Given the description of an element on the screen output the (x, y) to click on. 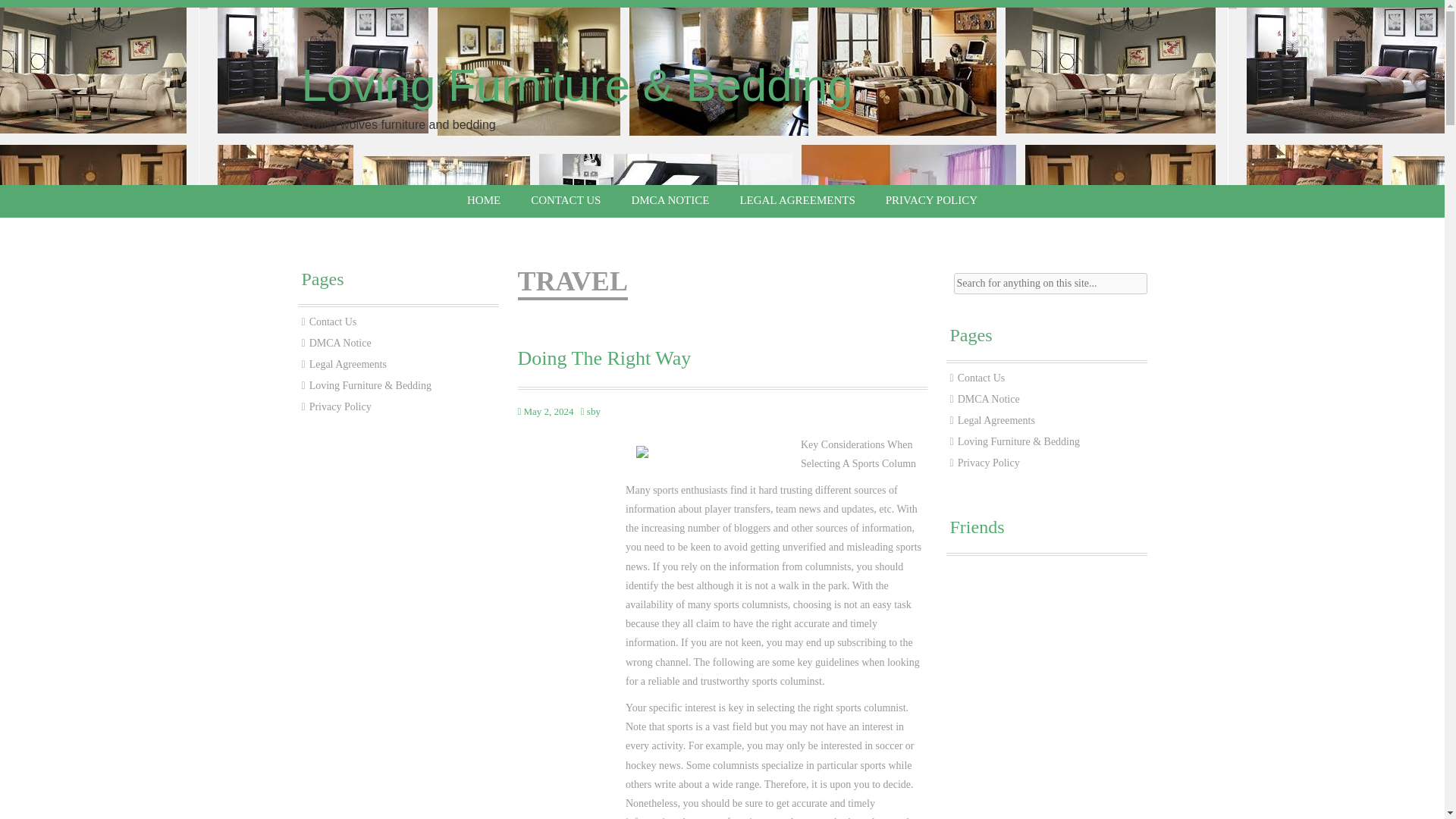
PRIVACY POLICY (931, 200)
HOME (483, 200)
Contact Us (332, 321)
Legal Agreements (347, 364)
LEGAL AGREEMENTS (796, 200)
Privacy Policy (339, 406)
Doing The Right Way (721, 358)
CONTACT US (565, 200)
DMCA Notice (339, 342)
DMCA NOTICE (669, 200)
